Given the description of an element on the screen output the (x, y) to click on. 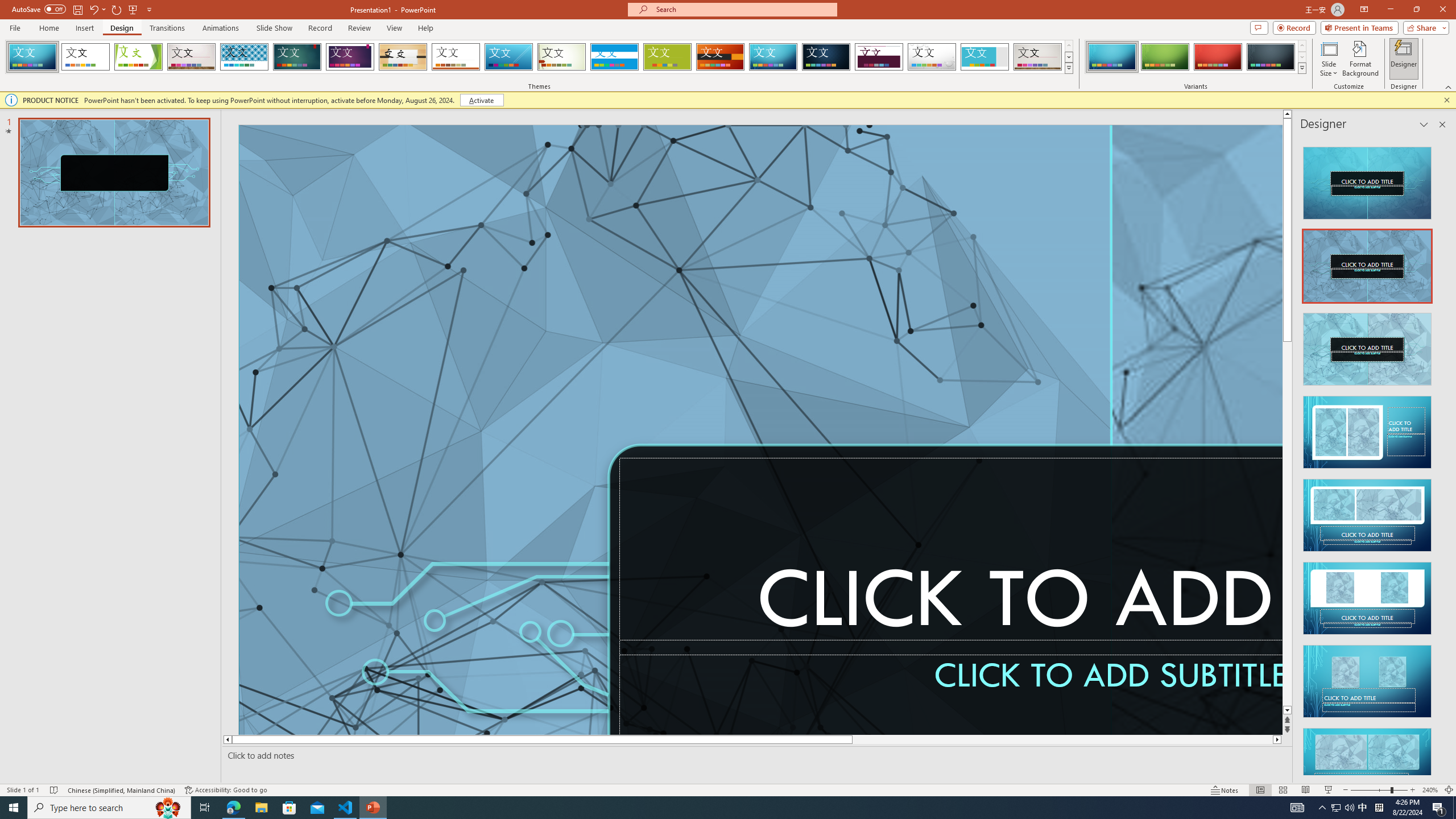
An abstract genetic concept (1197, 429)
FadeVTI (32, 56)
Damask (826, 56)
AutomationID: SlideThemesGallery (539, 56)
